Given the description of an element on the screen output the (x, y) to click on. 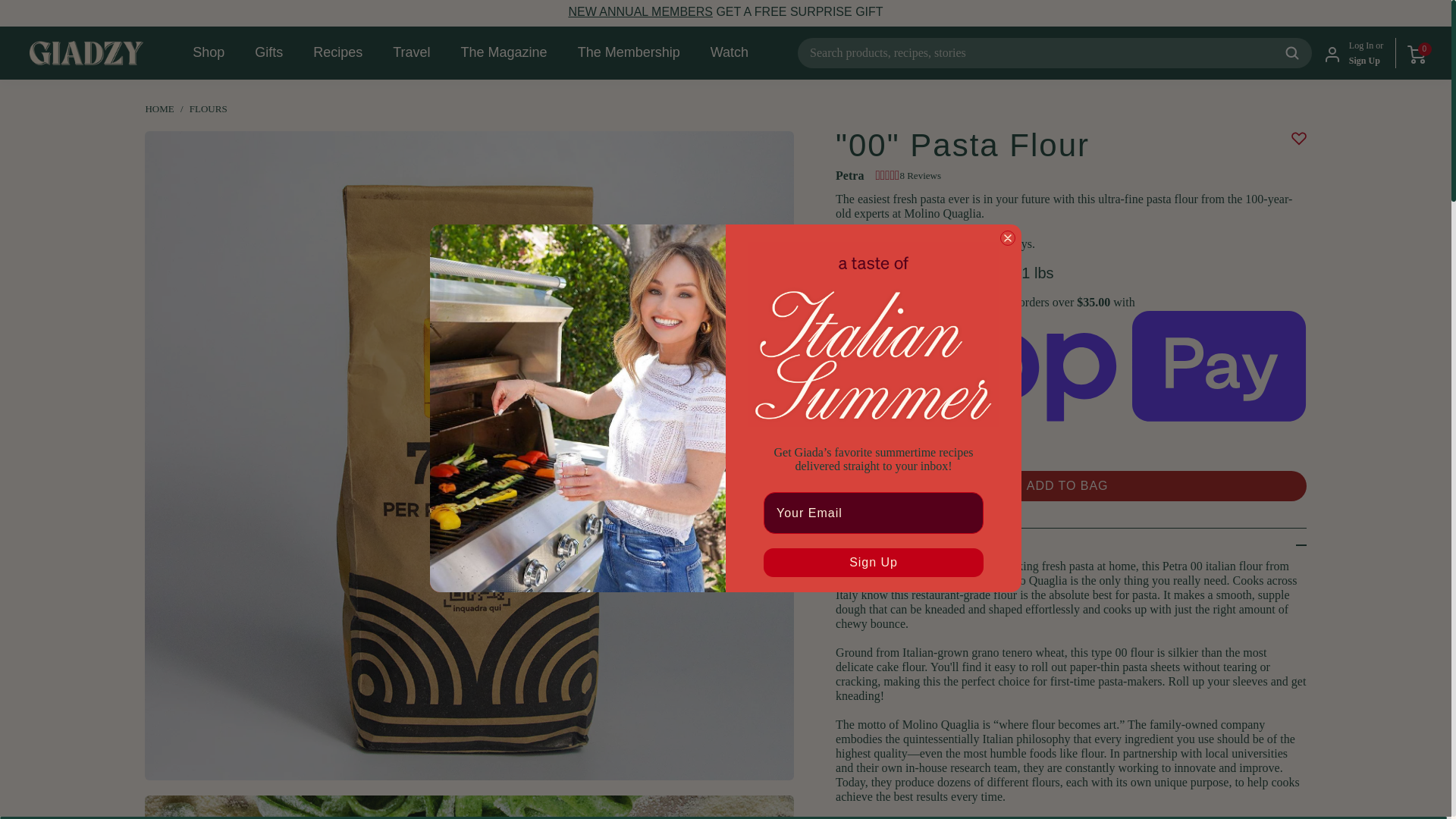
NEW ANNUAL MEMBERS (640, 11)
The Membership (640, 11)
Home (160, 108)
